Given the description of an element on the screen output the (x, y) to click on. 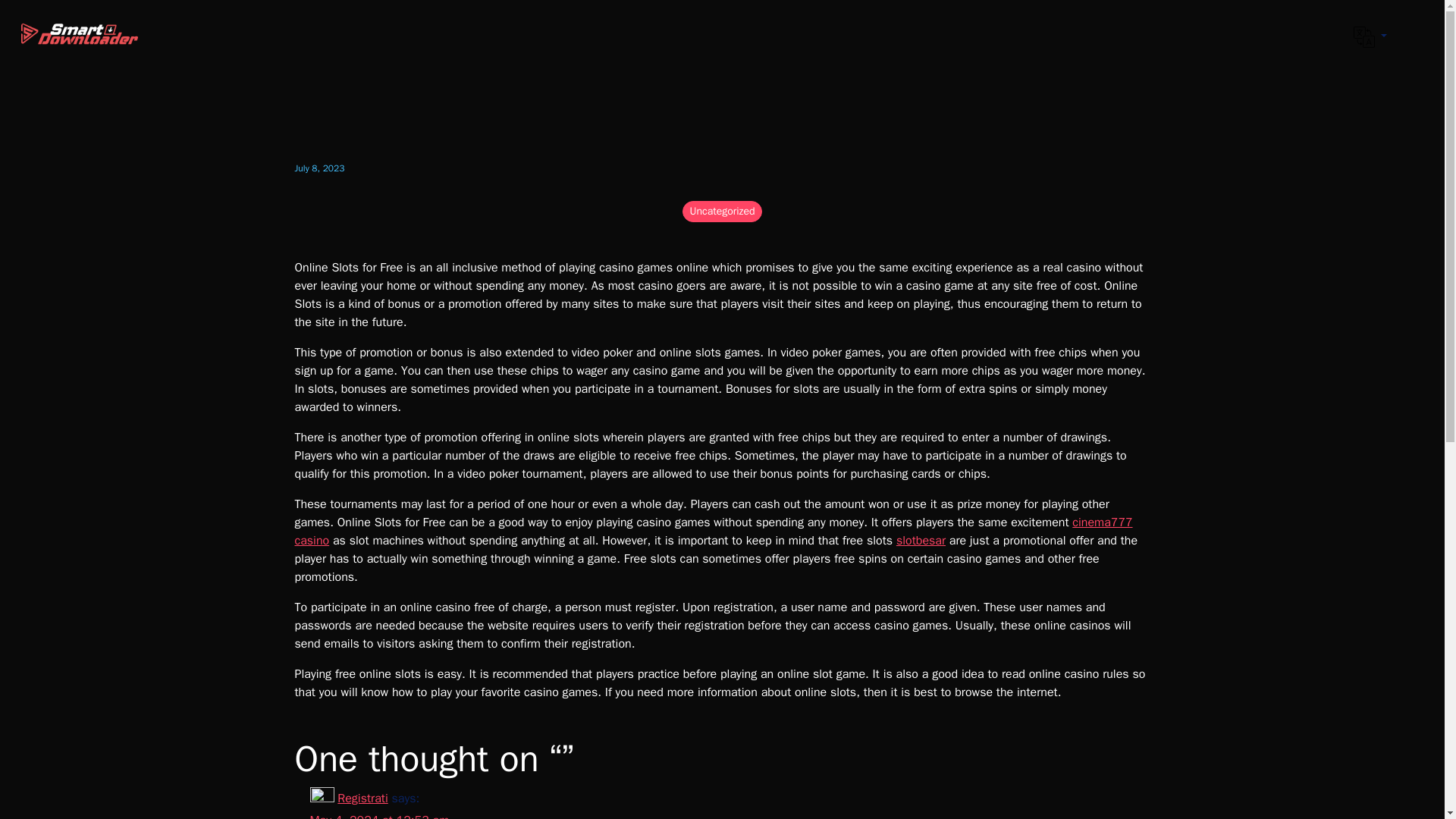
May 4, 2024 at 12:53 am (378, 816)
Uncategorized (721, 210)
slotbesar (920, 539)
cinema777 casino (713, 530)
Registrati (362, 798)
